Given the description of an element on the screen output the (x, y) to click on. 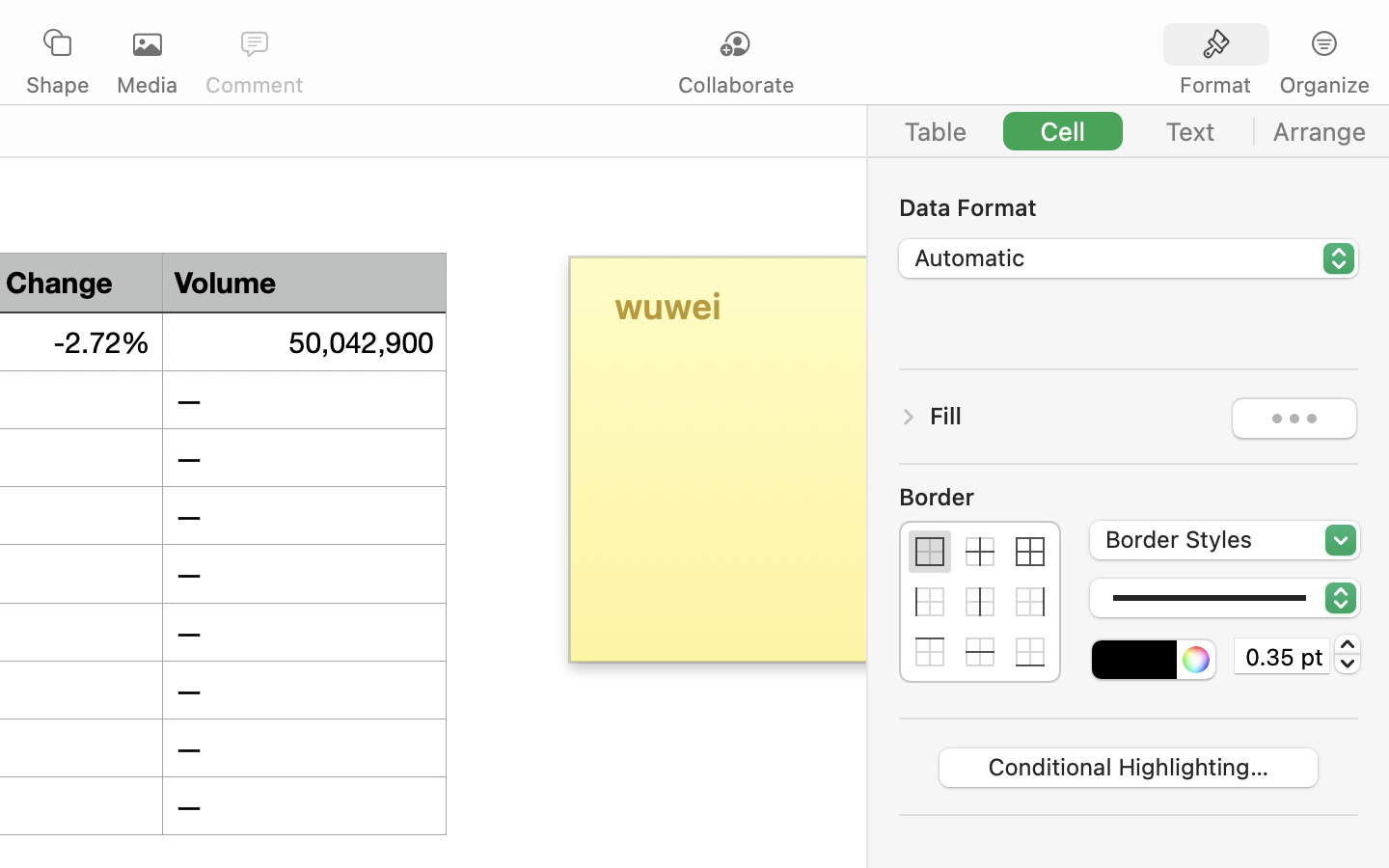
<AXUIElement 0x1252f2080> {pid=1420} Element type: AXGroup (1270, 45)
Border Element type: AXStaticText (979, 496)
Format Element type: AXStaticText (1215, 84)
Automatic Element type: AXPopUpButton (1129, 261)
